Given the description of an element on the screen output the (x, y) to click on. 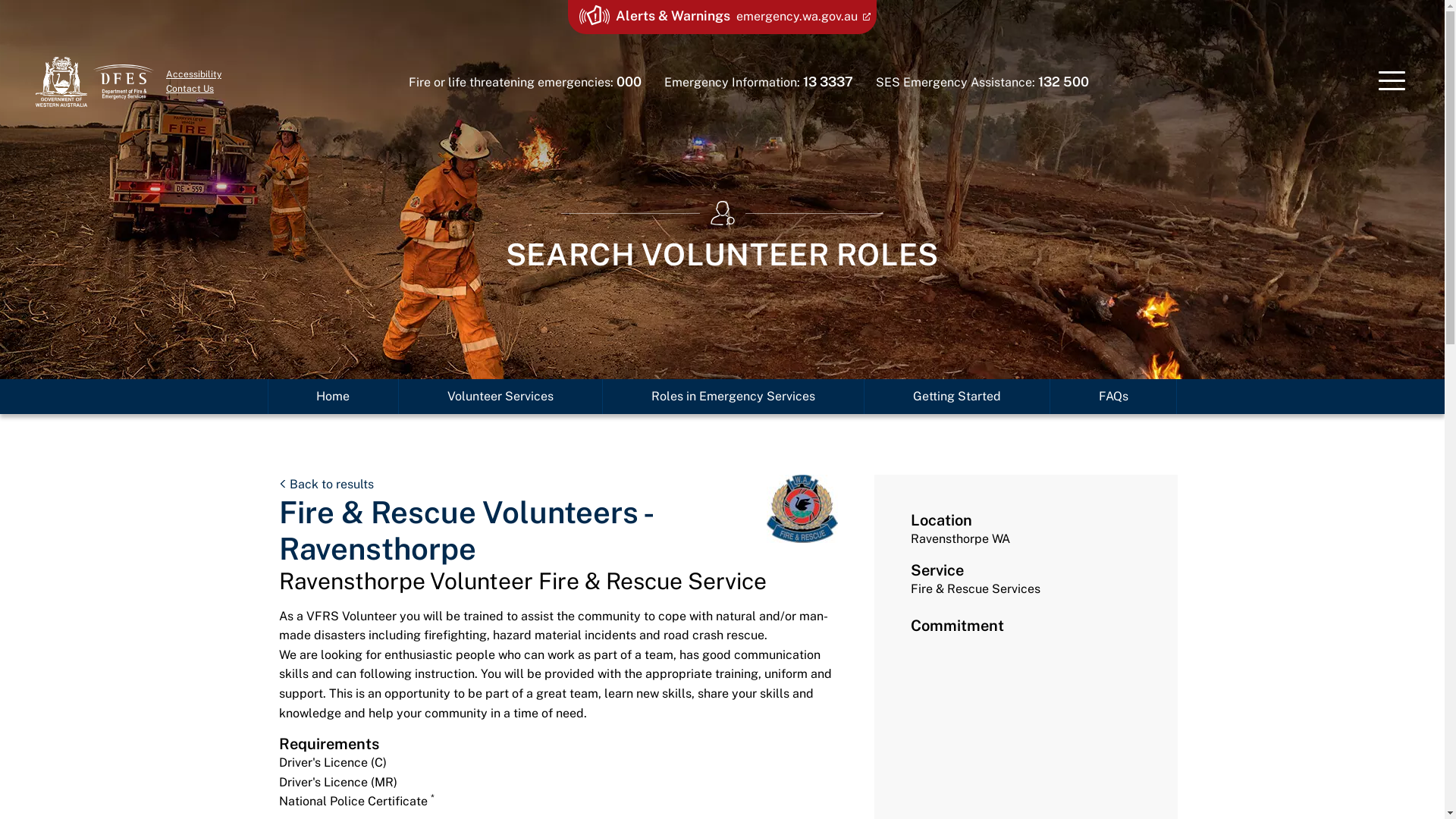
Back to results Element type: text (326, 483)
Department of Fire and Emergency Services Element type: text (123, 81)
Volunteer Services Element type: text (500, 396)
Accessibility Element type: text (193, 74)
Government of Western Australia Element type: text (61, 81)
Fire or life threatening emergencies: 000 Element type: text (524, 82)
FAQs Element type: text (1113, 396)
Getting Started Element type: text (956, 396)
Roles in Emergency Services Element type: text (732, 396)
Emergency Information: 13 3337 Element type: text (758, 82)
TOGGLE MENU Element type: text (1391, 81)
Home Element type: text (333, 396)
Contact Us Element type: text (189, 88)
SES Emergency Assistance: 132 500 Element type: text (981, 82)
Alerts & Warnings emergency.wa.gov.au Element type: text (721, 17)
